Given the description of an element on the screen output the (x, y) to click on. 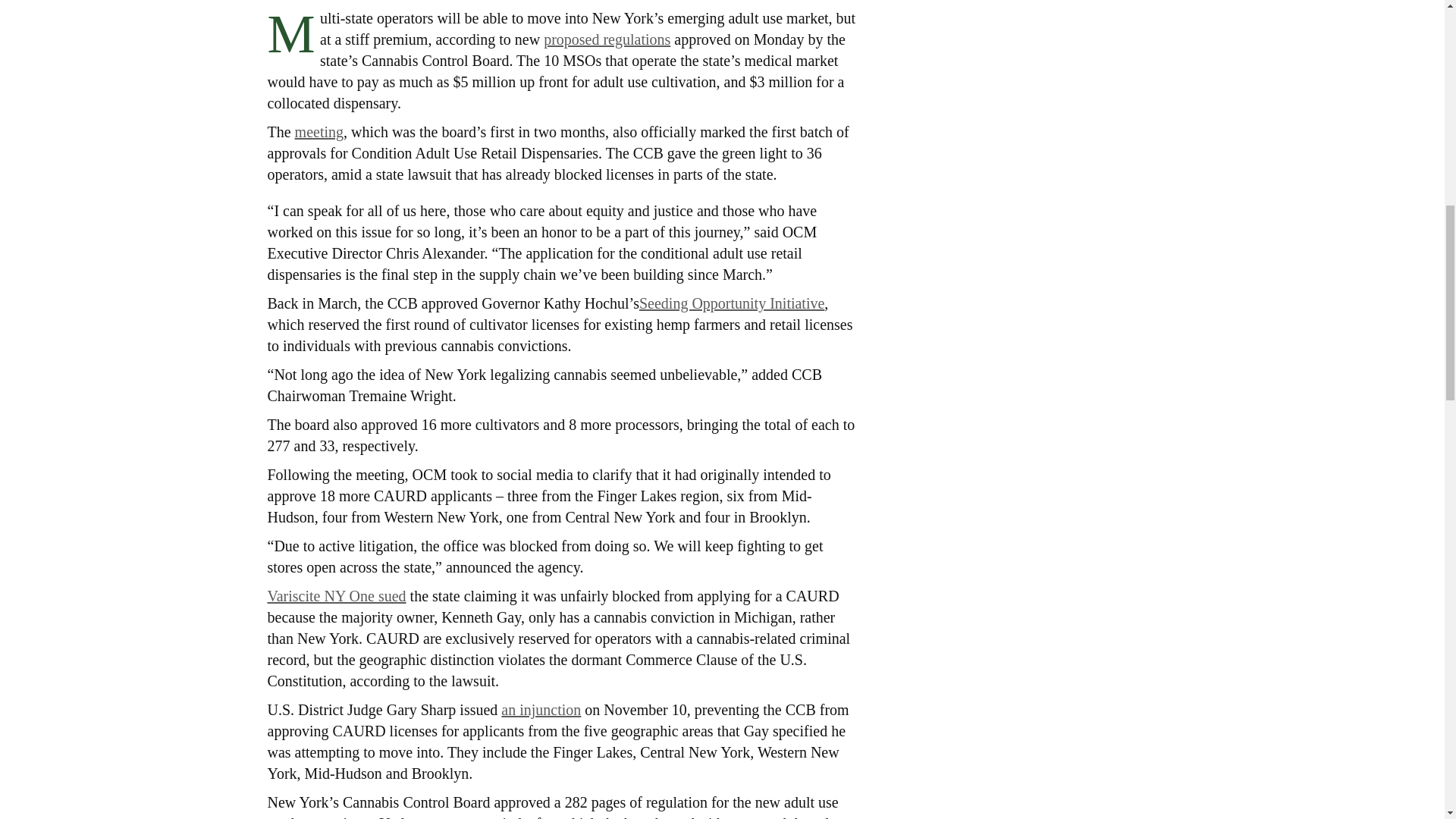
an injunction (540, 709)
proposed regulations (606, 38)
meeting (319, 131)
Seeding Opportunity Initiative (731, 302)
Variscite NY One sued (336, 595)
